Given the description of an element on the screen output the (x, y) to click on. 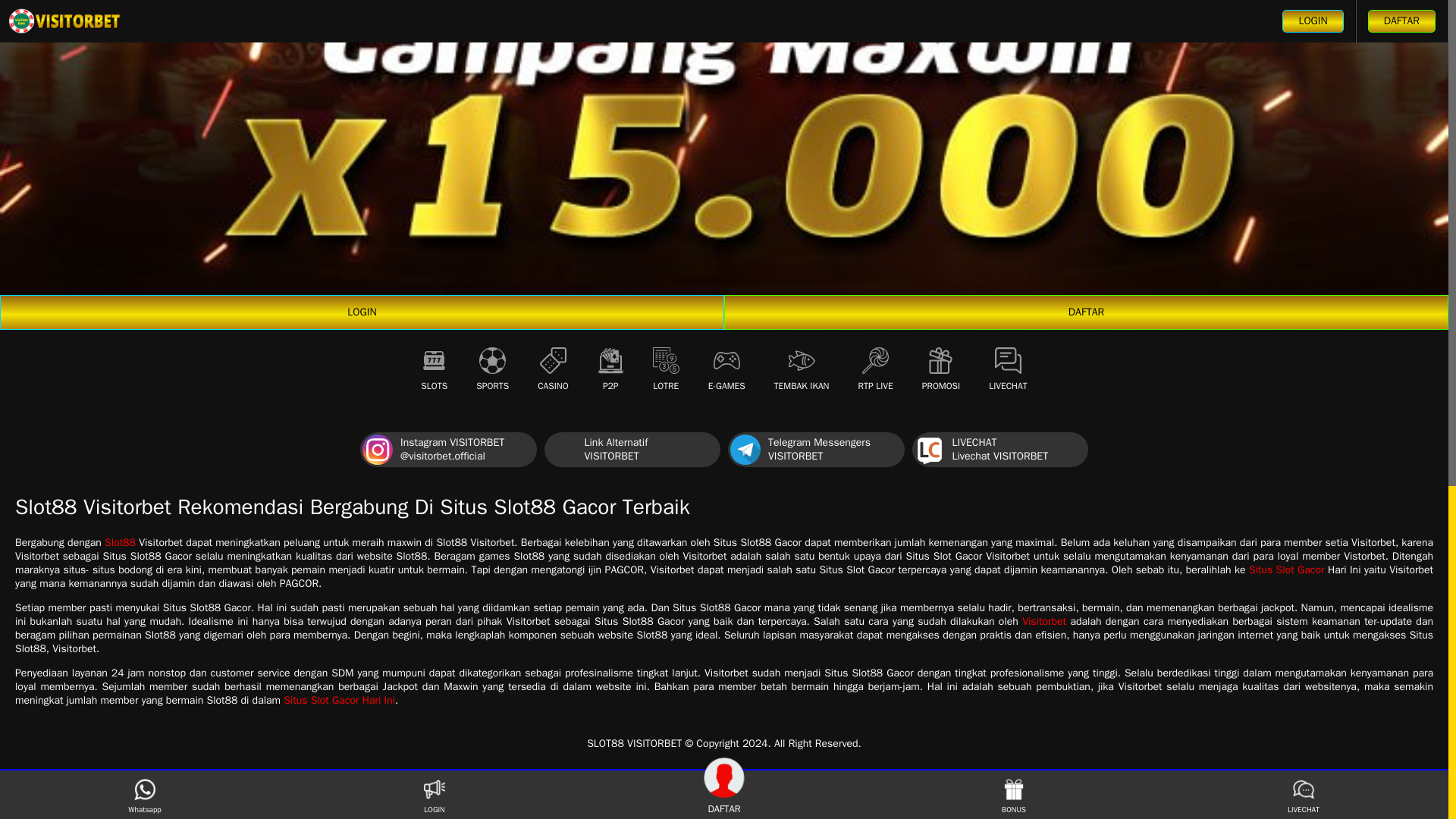
Situs Slot Gacor Hari Ini (632, 449)
TEMBAK IKAN (999, 449)
Visitorbet (338, 699)
Previous item in carousel (802, 366)
Slot88 (1043, 621)
LOGIN (816, 449)
Situs Slot Gacor (119, 542)
TEMBAK IKAN (361, 312)
Situs Slot Gacor (119, 542)
Situs Slot Gacor Hari Ini (1286, 569)
